Given the description of an element on the screen output the (x, y) to click on. 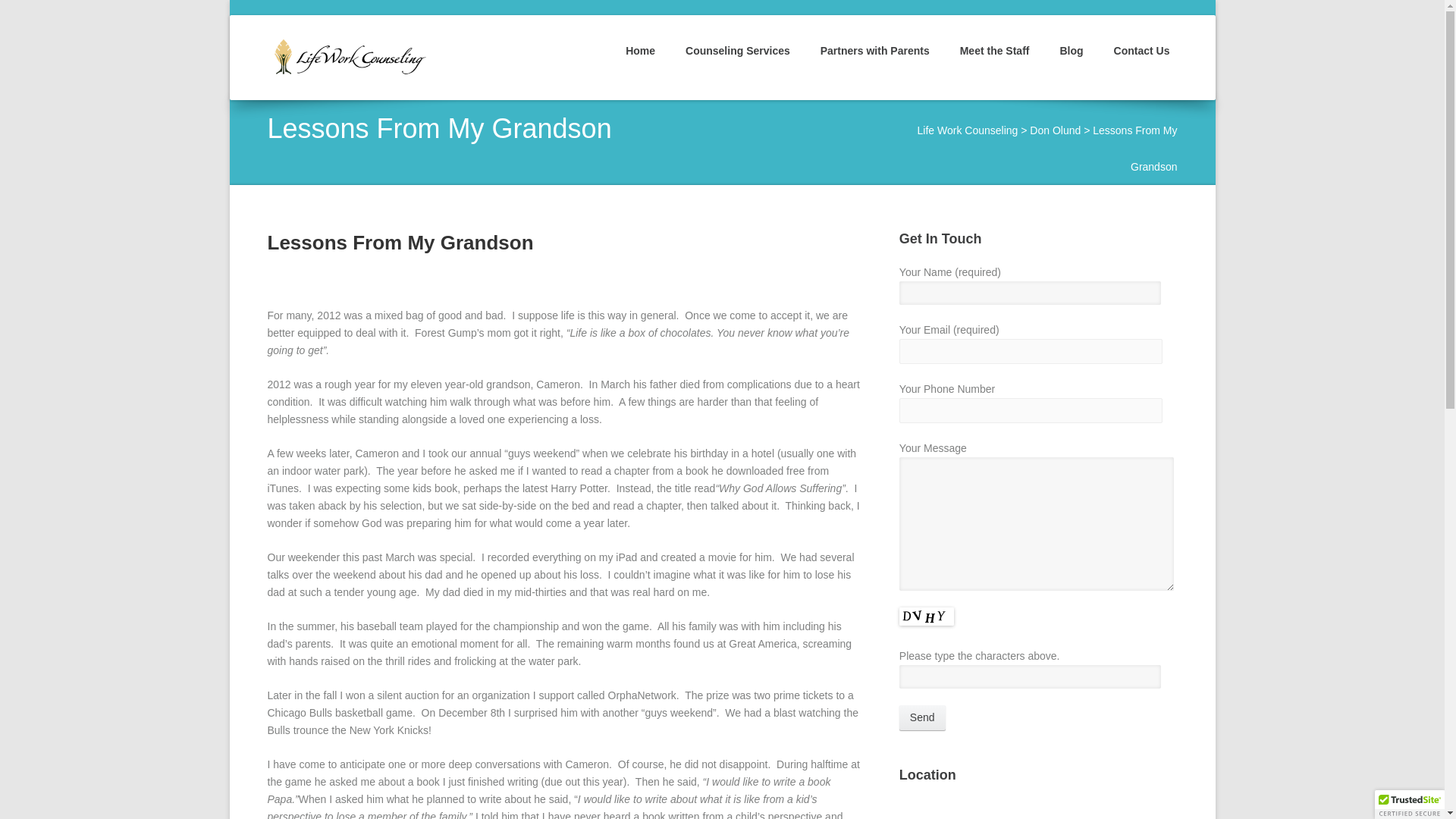
Go to Life Work Counseling. (967, 130)
Life Work Counseling (967, 130)
Contact Us (1133, 60)
Send (921, 717)
Counseling Services (729, 60)
Home (632, 60)
Send (921, 717)
Blog (1063, 60)
Partners with Parents (867, 60)
Life Work Counseling (358, 56)
Meet the Staff (986, 60)
Don Olund (1054, 130)
Go to the Don Olund category archives. (1054, 130)
